Given the description of an element on the screen output the (x, y) to click on. 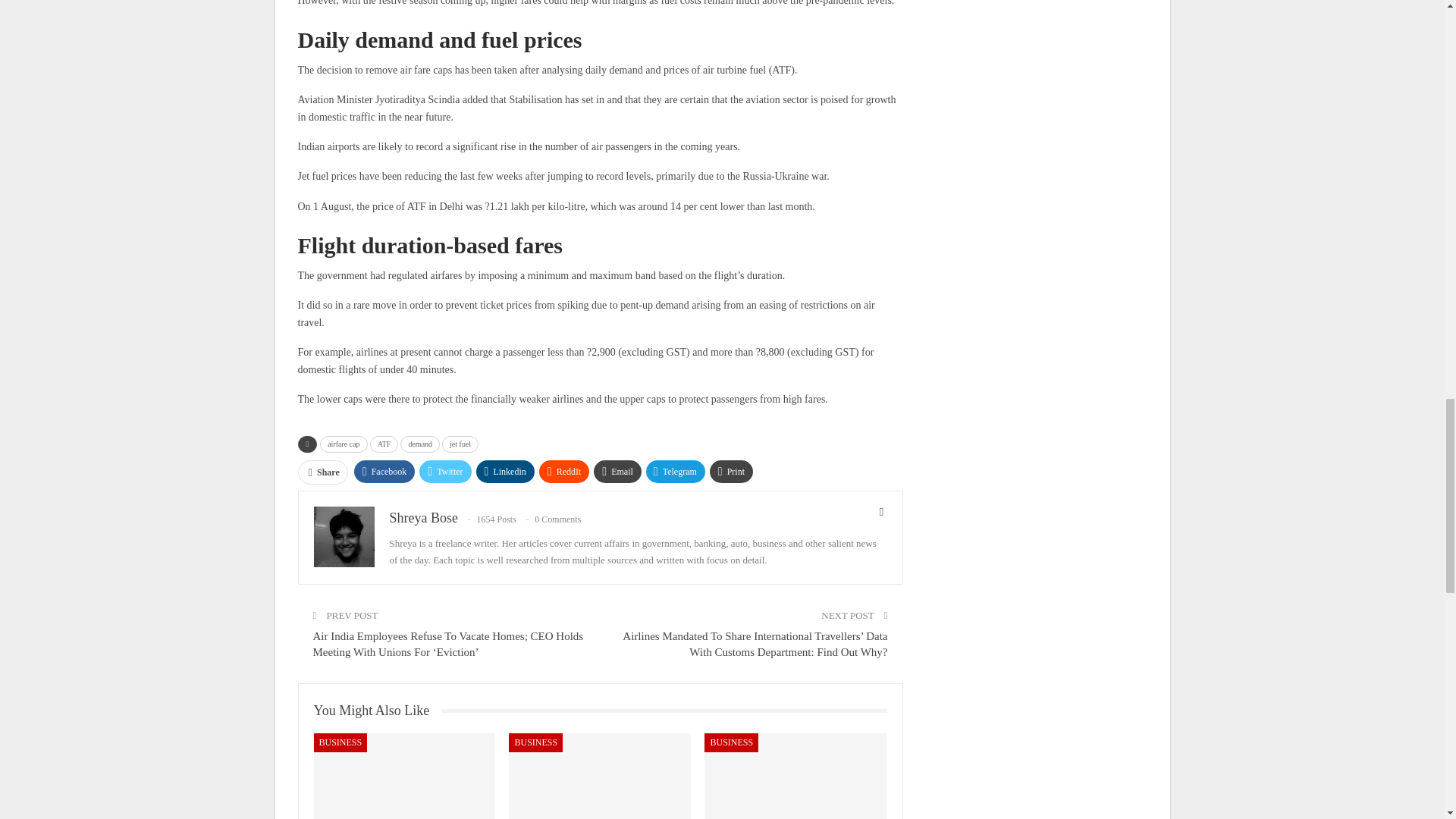
jet fuel (460, 443)
airfare cap (343, 443)
ATF (383, 443)
demand (419, 443)
